Given the description of an element on the screen output the (x, y) to click on. 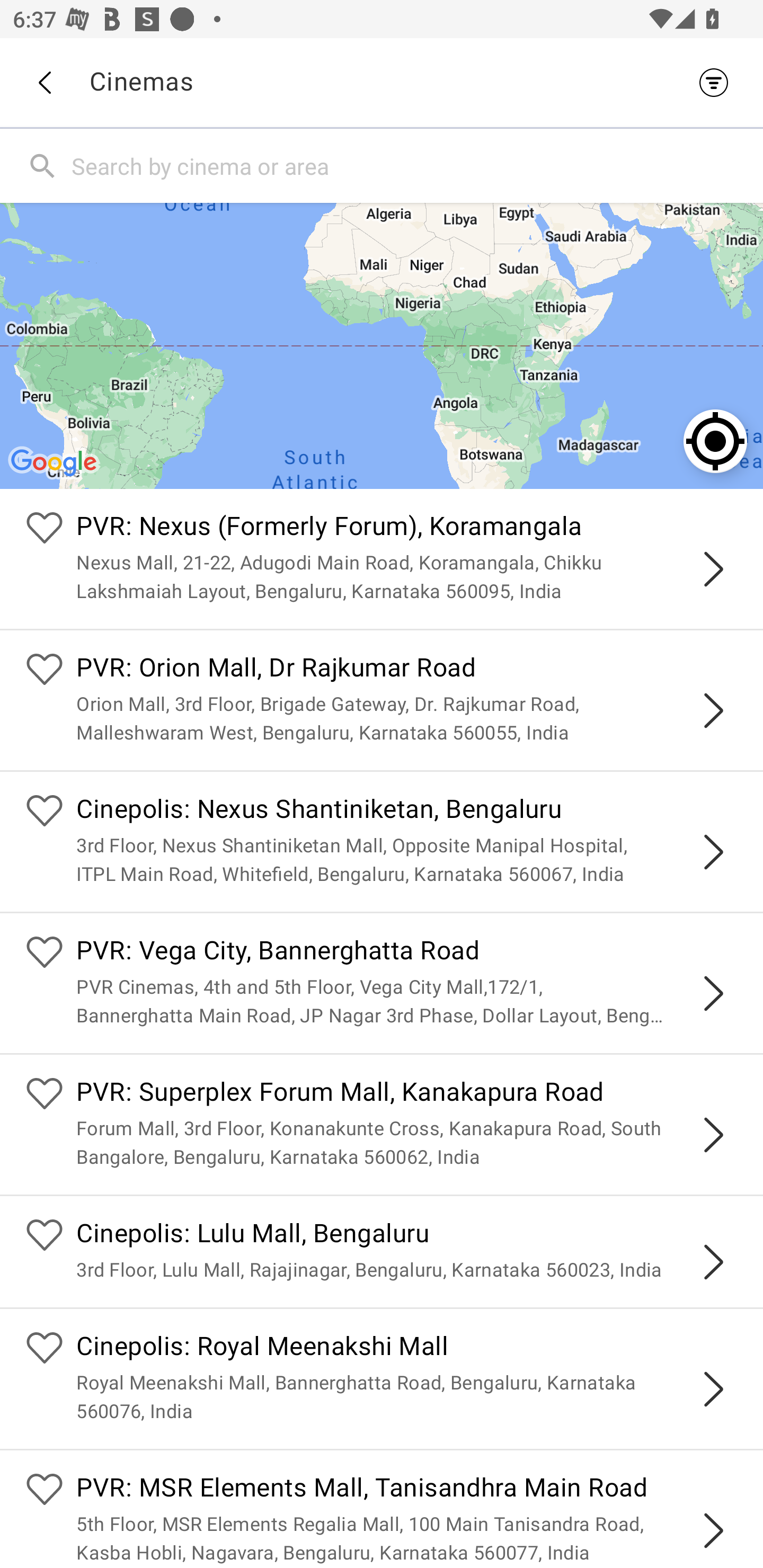
Back Cinemas Filter (381, 82)
Filter (718, 82)
Back (44, 82)
Search by cinema or area (413, 165)
Google Map (381, 345)
PVR: Nexus (Formerly Forum), Koramangala (406, 528)
 (713, 568)
PVR: Orion Mall, Dr Rajkumar Road (406, 669)
 (713, 710)
Cinepolis: Nexus Shantiniketan, Bengaluru (406, 810)
 (713, 851)
PVR: Vega City, Bannerghatta Road (406, 952)
 (713, 993)
PVR: Superplex Forum Mall, Kanakapura Road (406, 1094)
 (713, 1134)
Cinepolis: Lulu Mall, Bengaluru (406, 1235)
 (713, 1261)
Cinepolis: Royal Meenakshi Mall (406, 1348)
 (713, 1388)
PVR: MSR Elements Mall, Tanisandhra Main Road (406, 1489)
 (713, 1530)
